Given the description of an element on the screen output the (x, y) to click on. 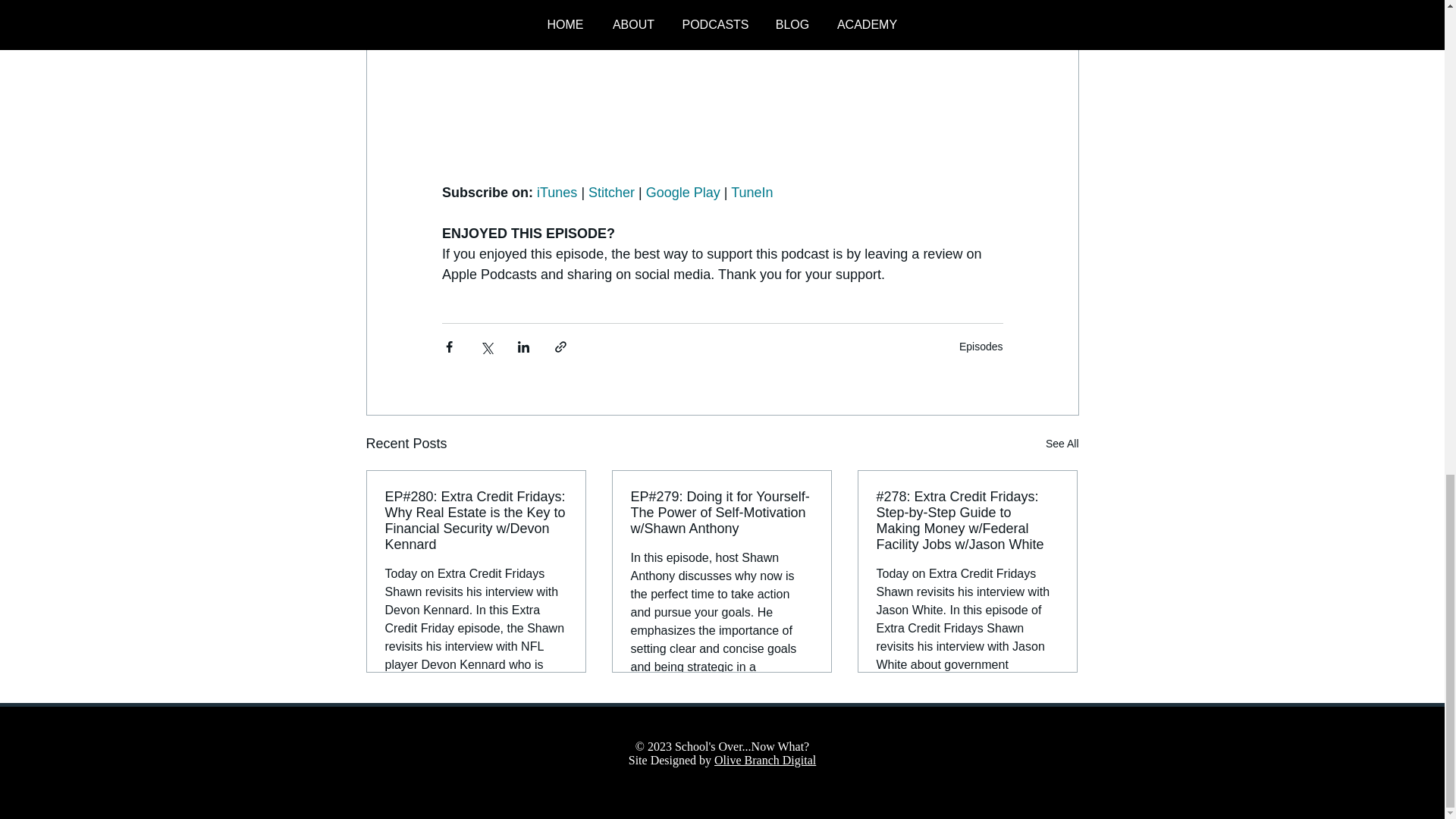
Stitcher (611, 192)
iTunes (556, 192)
TuneIn (751, 192)
Google Play (682, 192)
Episodes (981, 345)
Olive Branch Digital (764, 759)
See All (1061, 444)
